Given the description of an element on the screen output the (x, y) to click on. 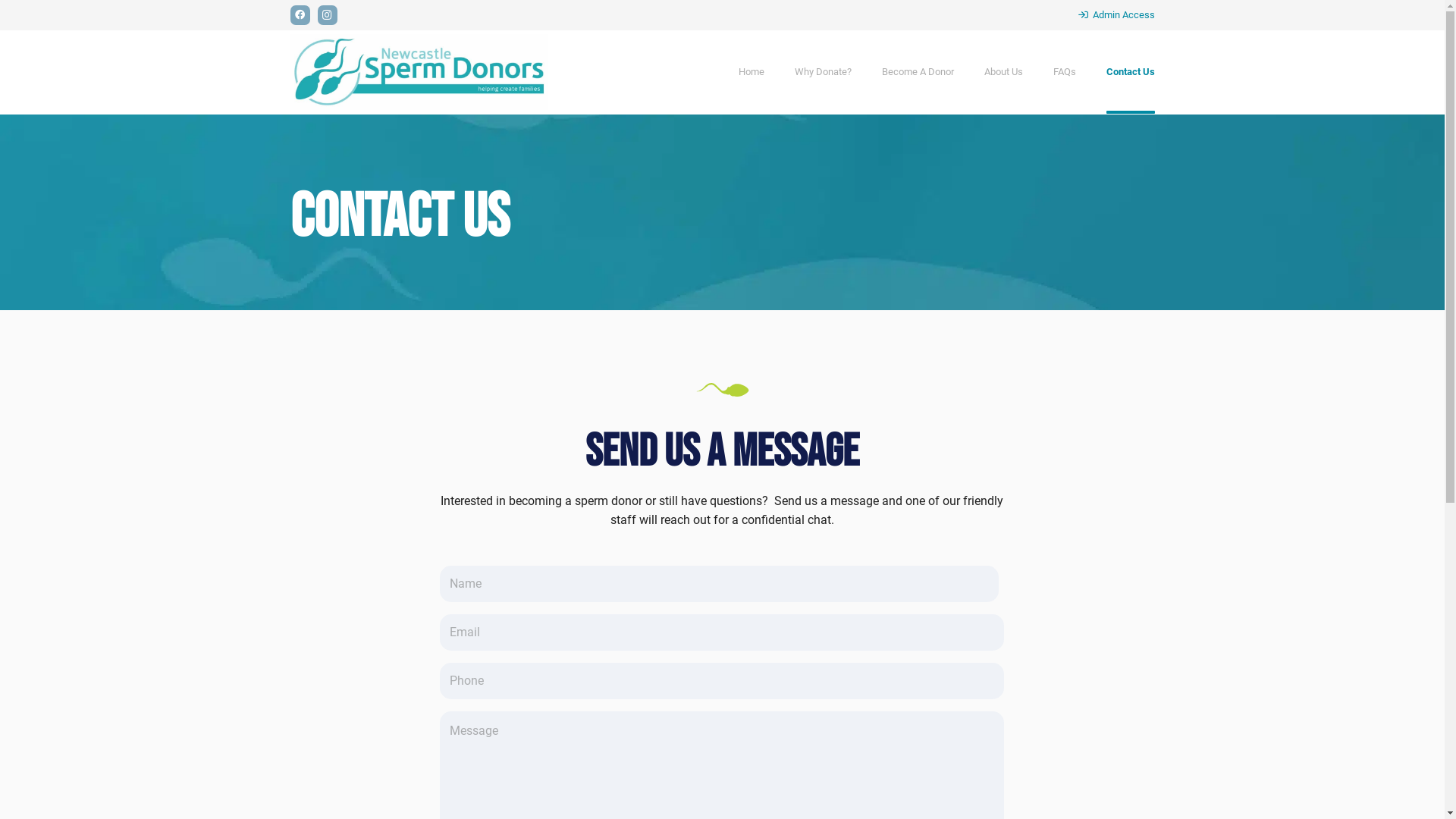
Home Element type: text (751, 71)
Become A Donor Element type: text (917, 71)
Facebook Element type: hover (299, 15)
About Us Element type: text (1003, 71)
Admin Access Element type: text (1116, 14)
Contact Us Element type: text (1129, 71)
Instagram Element type: hover (326, 15)
FAQs Element type: text (1063, 71)
Why Donate? Element type: text (822, 71)
